Given the description of an element on the screen output the (x, y) to click on. 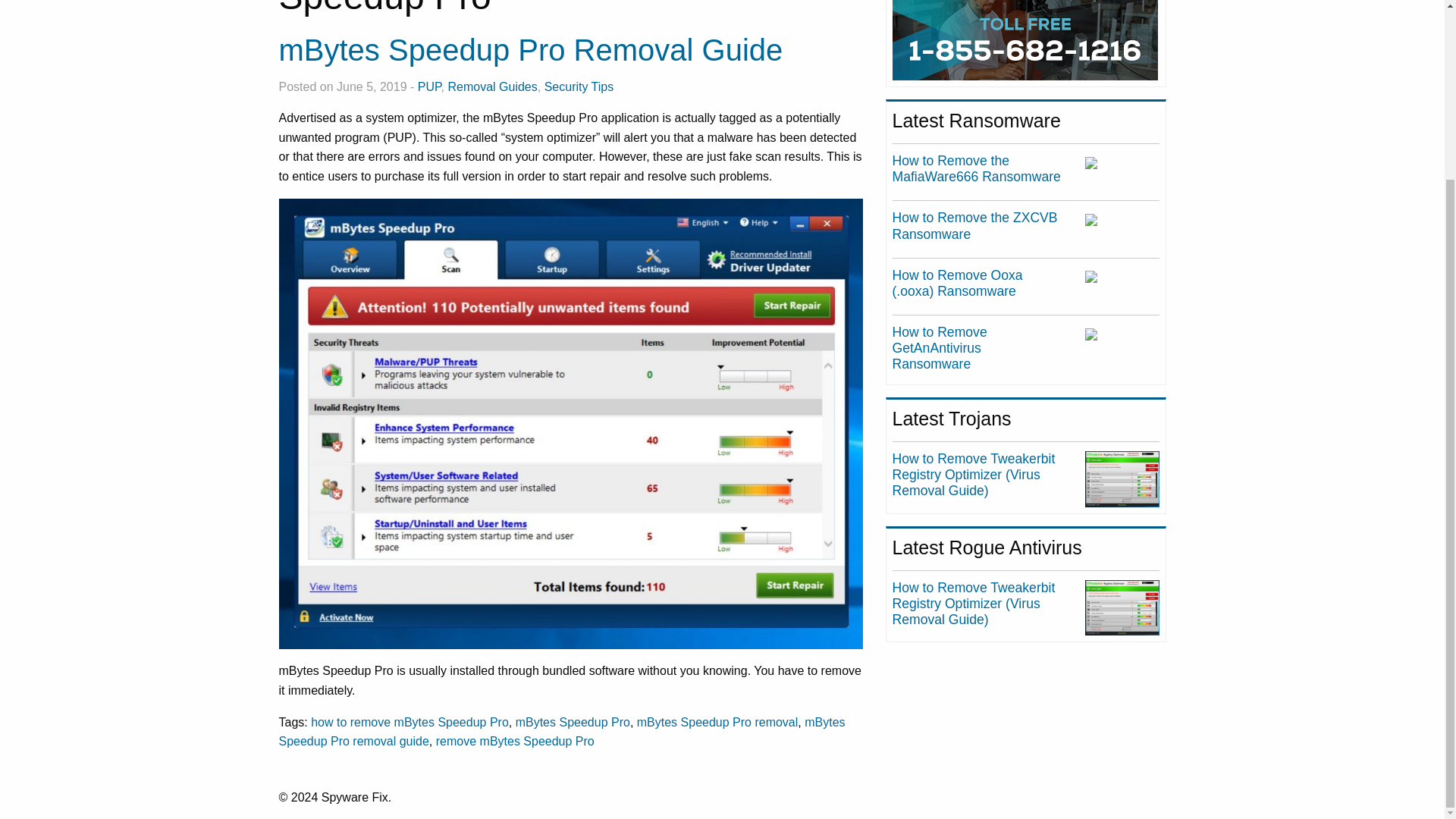
remove mBytes Speedup Pro (514, 740)
mBytes Speedup Pro removal (717, 721)
How to Remove the ZXCVB Ransomware (975, 224)
Security Tips (579, 86)
How to Remove the MafiaWare666 Ransomware (976, 168)
mBytes Speedup Pro Removal Guide (531, 49)
mBytes Speedup Pro Removal Guide (531, 49)
PUP (429, 86)
mBytes Speedup Pro (572, 721)
Removal Guides (491, 86)
how to remove mBytes Speedup Pro (409, 721)
How to Remove GetAnAntivirus Ransomware (939, 347)
mBytes Speedup Pro removal guide (562, 730)
